Given the description of an element on the screen output the (x, y) to click on. 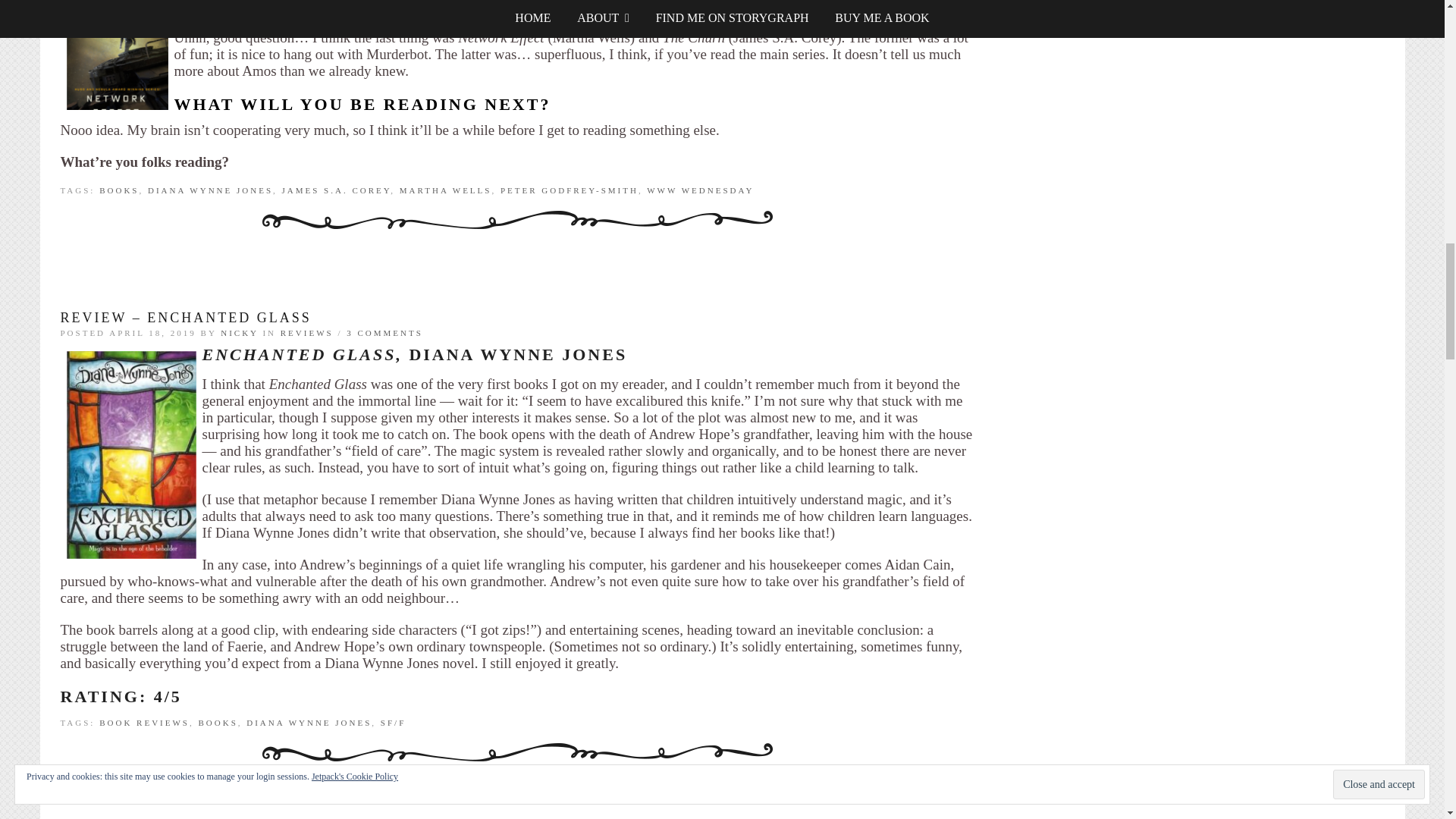
BOOKS (118, 189)
View all posts in Reviews (307, 332)
